Given the description of an element on the screen output the (x, y) to click on. 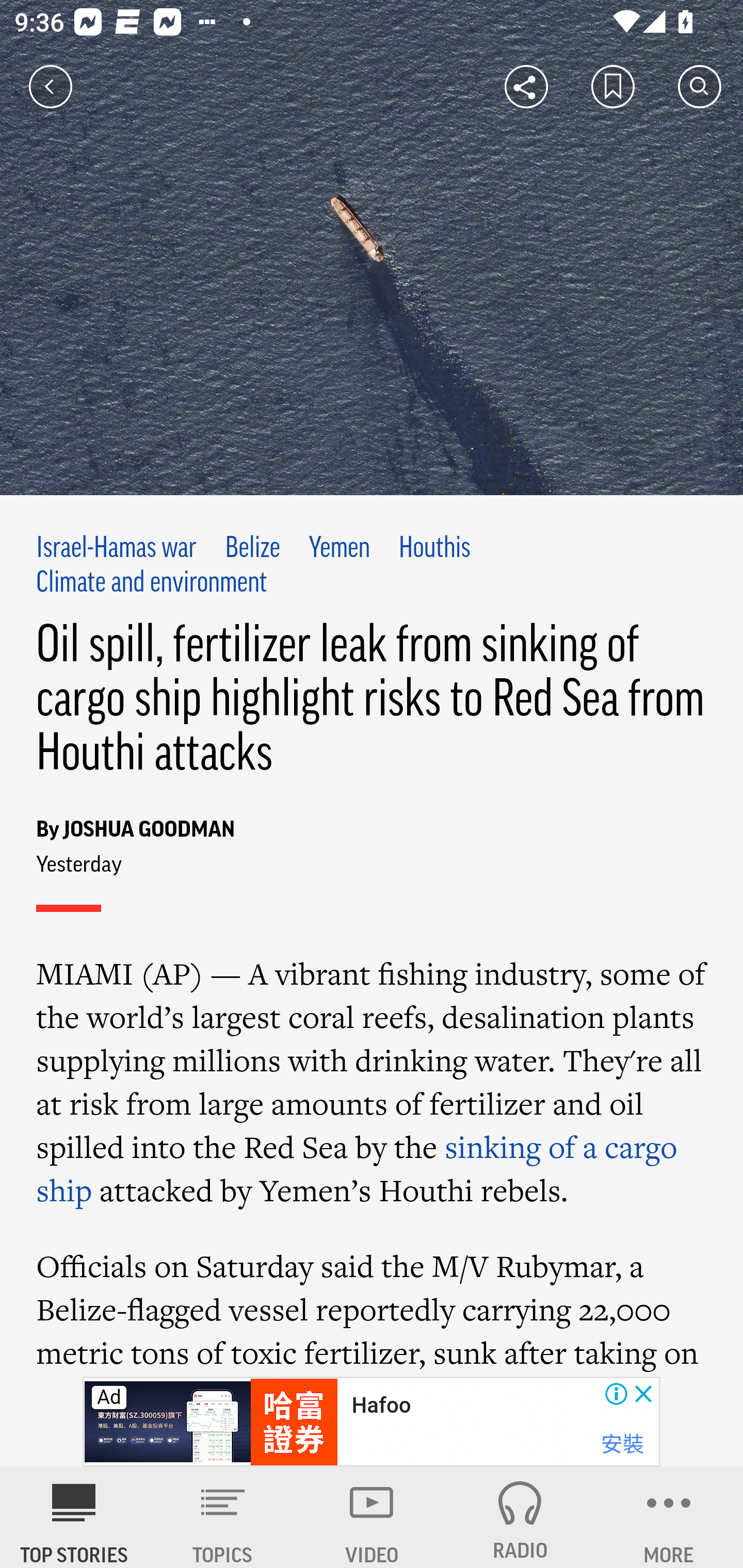
Israel-Hamas war (117, 549)
Belize (252, 549)
Yemen (339, 549)
Houthis (434, 549)
Climate and environment (151, 584)
sinking of a cargo ship (357, 1168)
Hafoo (381, 1405)
安裝 (621, 1444)
AP News TOP STORIES (74, 1517)
TOPICS (222, 1517)
VIDEO (371, 1517)
RADIO (519, 1517)
MORE (668, 1517)
